Given the description of an element on the screen output the (x, y) to click on. 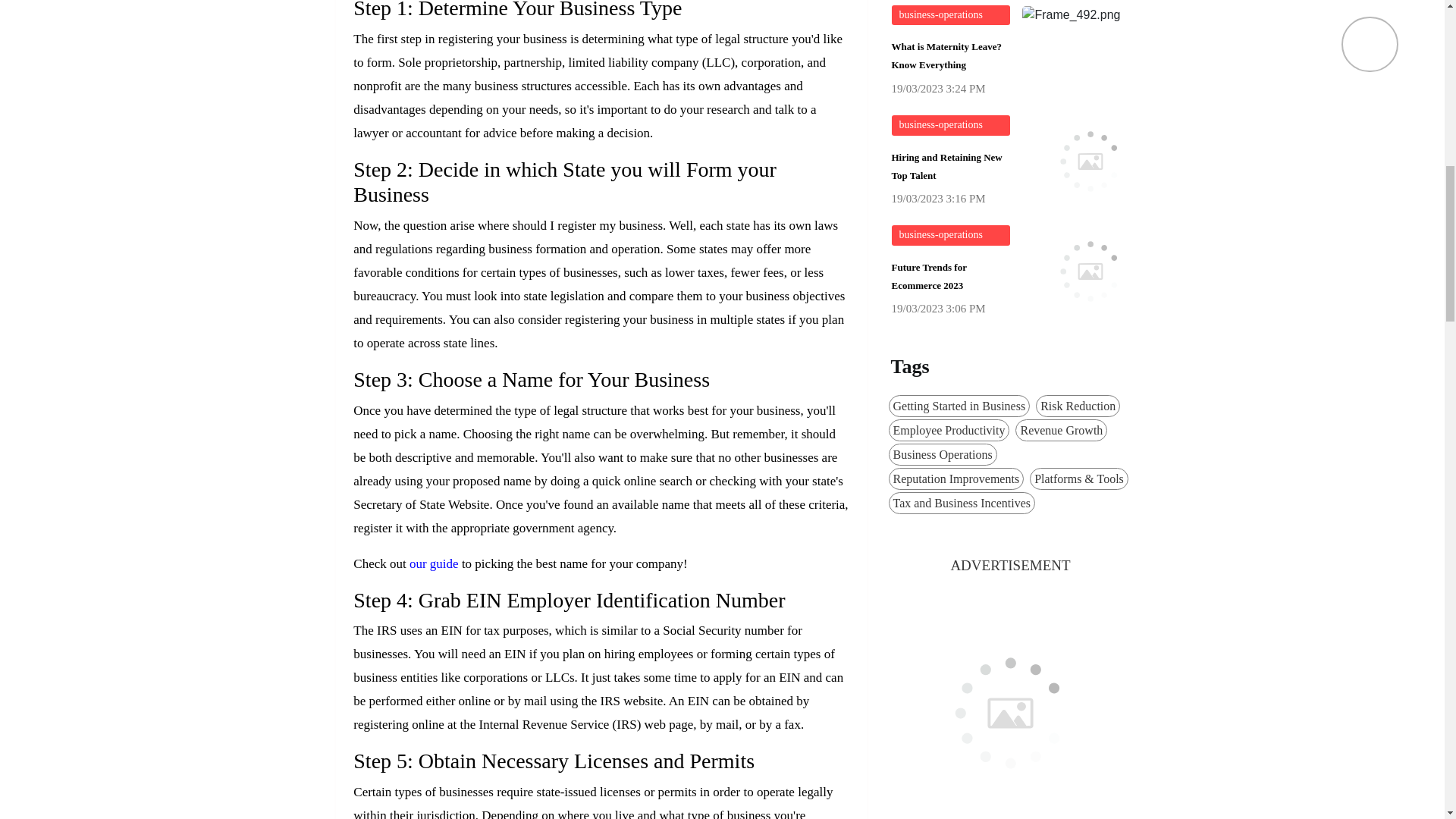
our guide (433, 563)
What is Maternity Leave? Know Everything (950, 57)
